Given the description of an element on the screen output the (x, y) to click on. 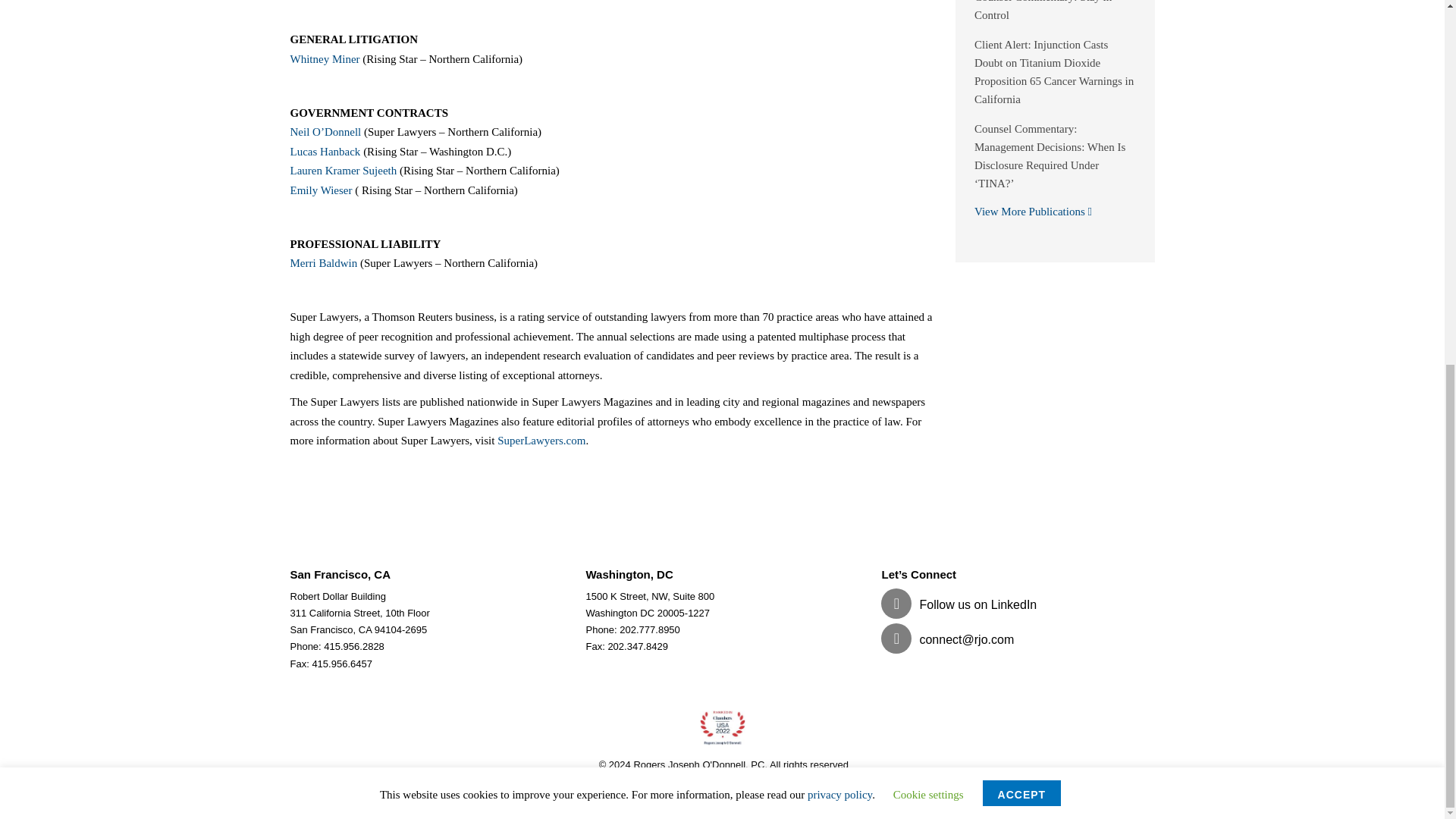
Whitney Miner (324, 59)
Emily Wieser (320, 190)
Merri Baldwin (322, 263)
Counsel Commentary: Stay in Control (1043, 10)
Lauren Kramer Sujeeth (342, 170)
Lucas Hanback (324, 151)
SuperLawyers.com (541, 440)
